Given the description of an element on the screen output the (x, y) to click on. 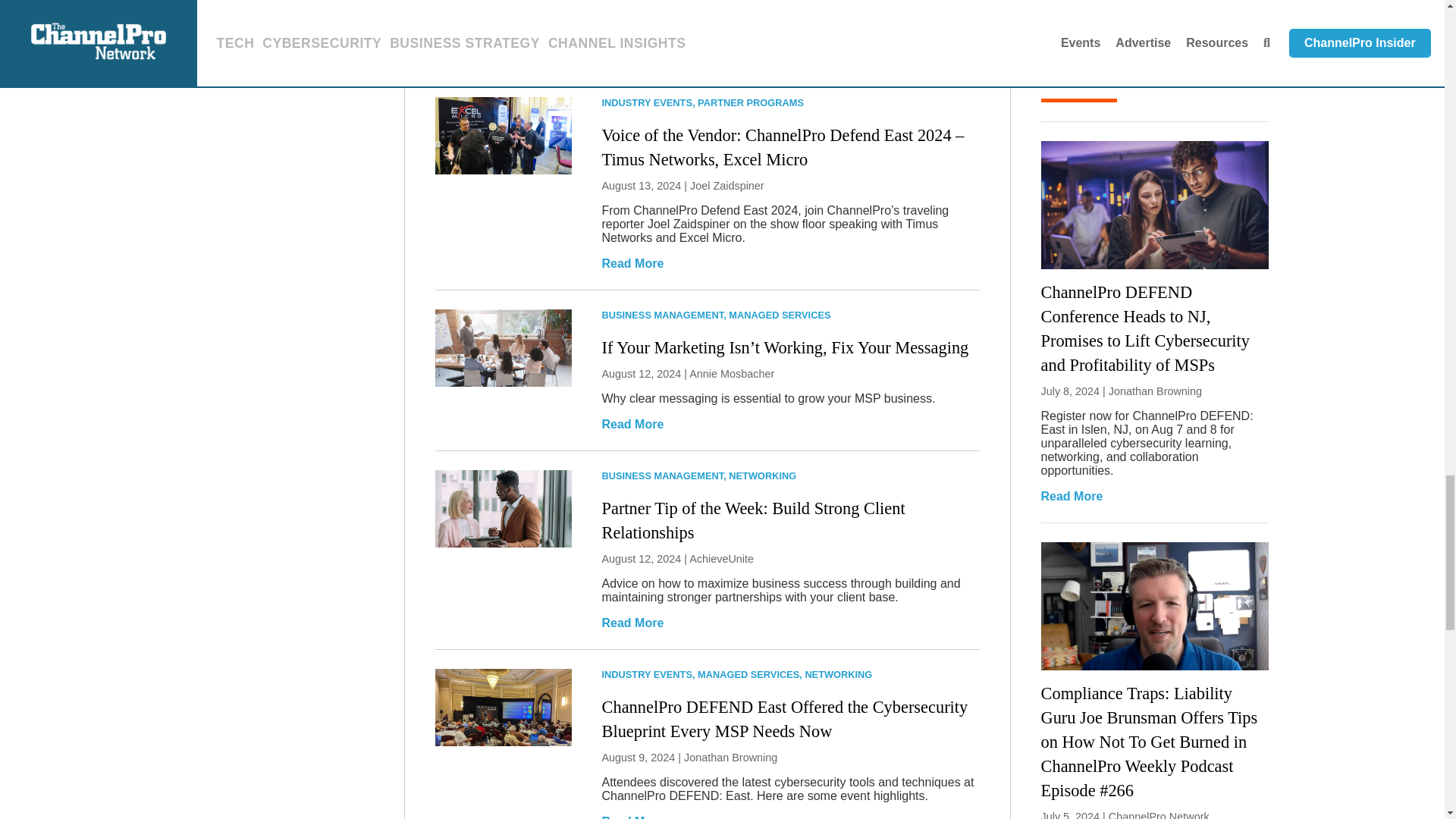
Posts by ChannelPro Network (1158, 814)
Posts by Jonathan Browning (1155, 390)
Posts by Joel Zaidspiner (727, 185)
Posts by Jonathan Browning (730, 757)
Posts by AchieveUnite (721, 558)
